Given the description of an element on the screen output the (x, y) to click on. 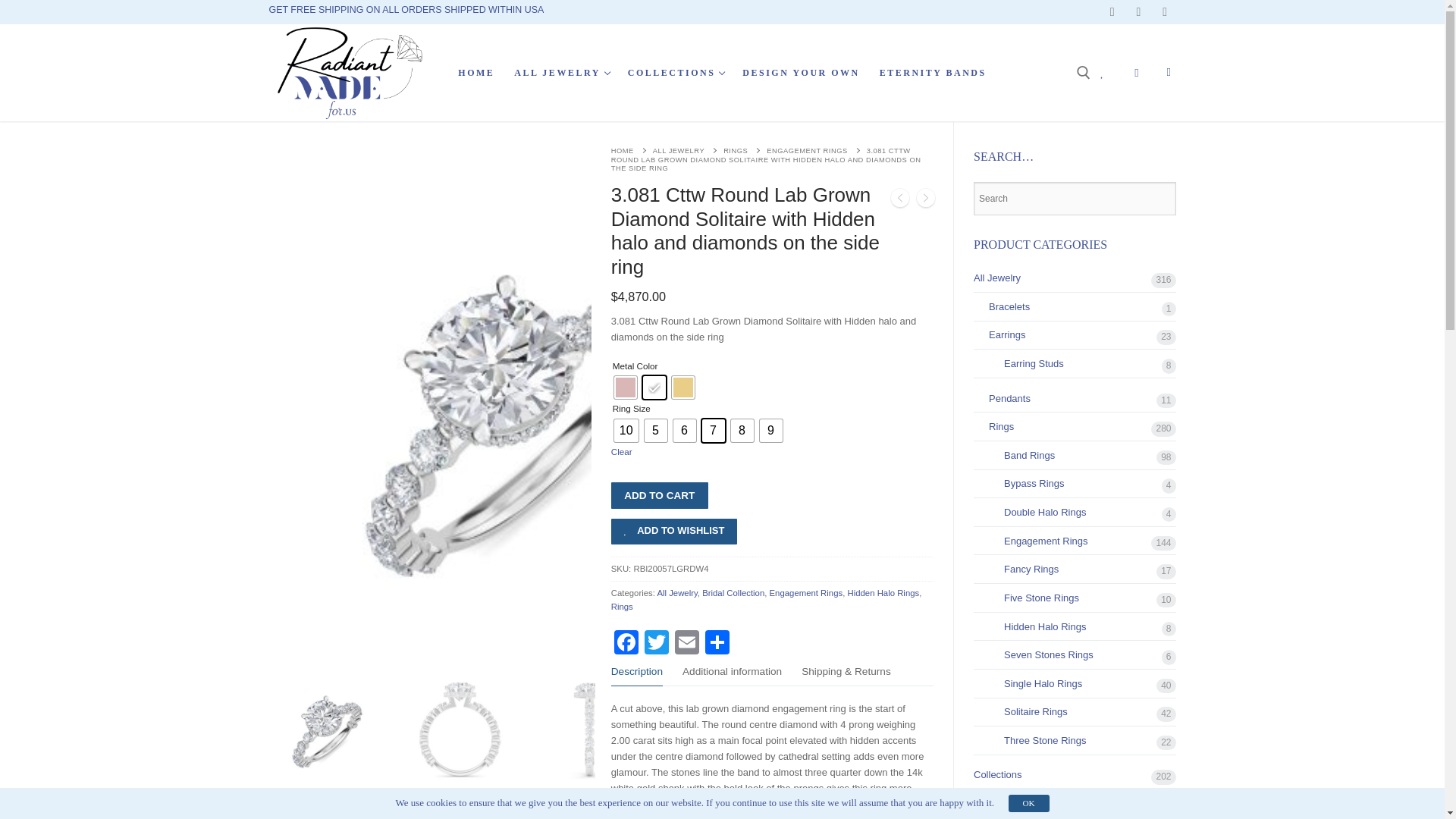
HOME (475, 72)
Youtube (1138, 11)
Instagram (675, 72)
ETERNITY BANDS (1164, 11)
Facebook (560, 72)
DESIGN YOUR OWN (932, 72)
